Given the description of an element on the screen output the (x, y) to click on. 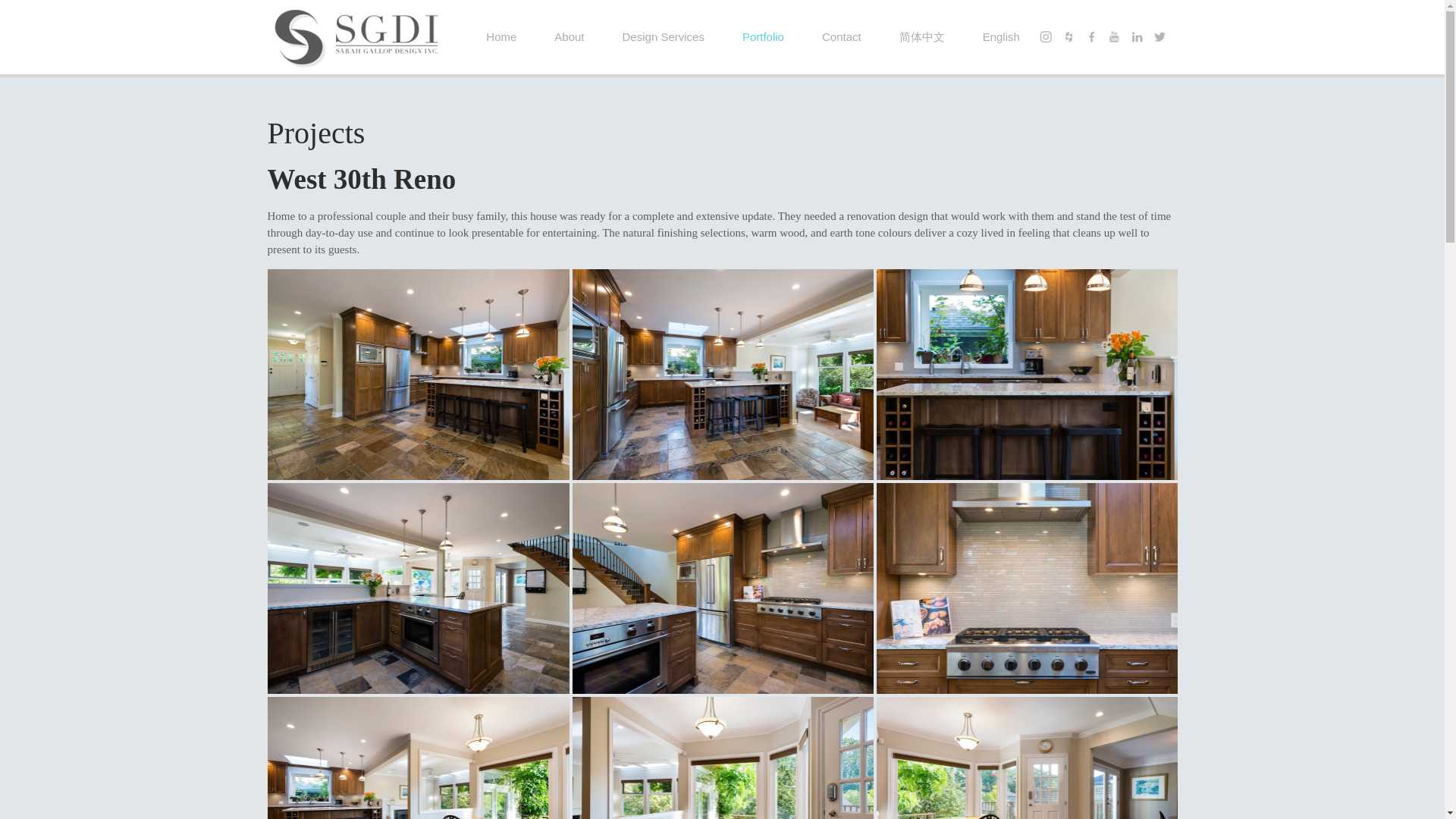
About (568, 37)
Contact (841, 37)
Portfolio (763, 37)
English (1001, 37)
Home (501, 37)
Design Services (663, 37)
English (1001, 37)
